Given the description of an element on the screen output the (x, y) to click on. 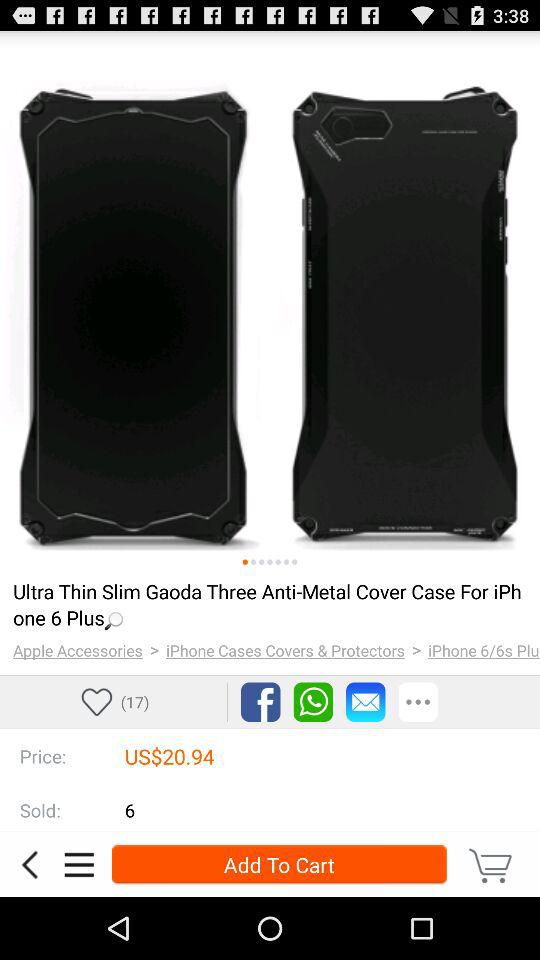
more images (286, 561)
